Given the description of an element on the screen output the (x, y) to click on. 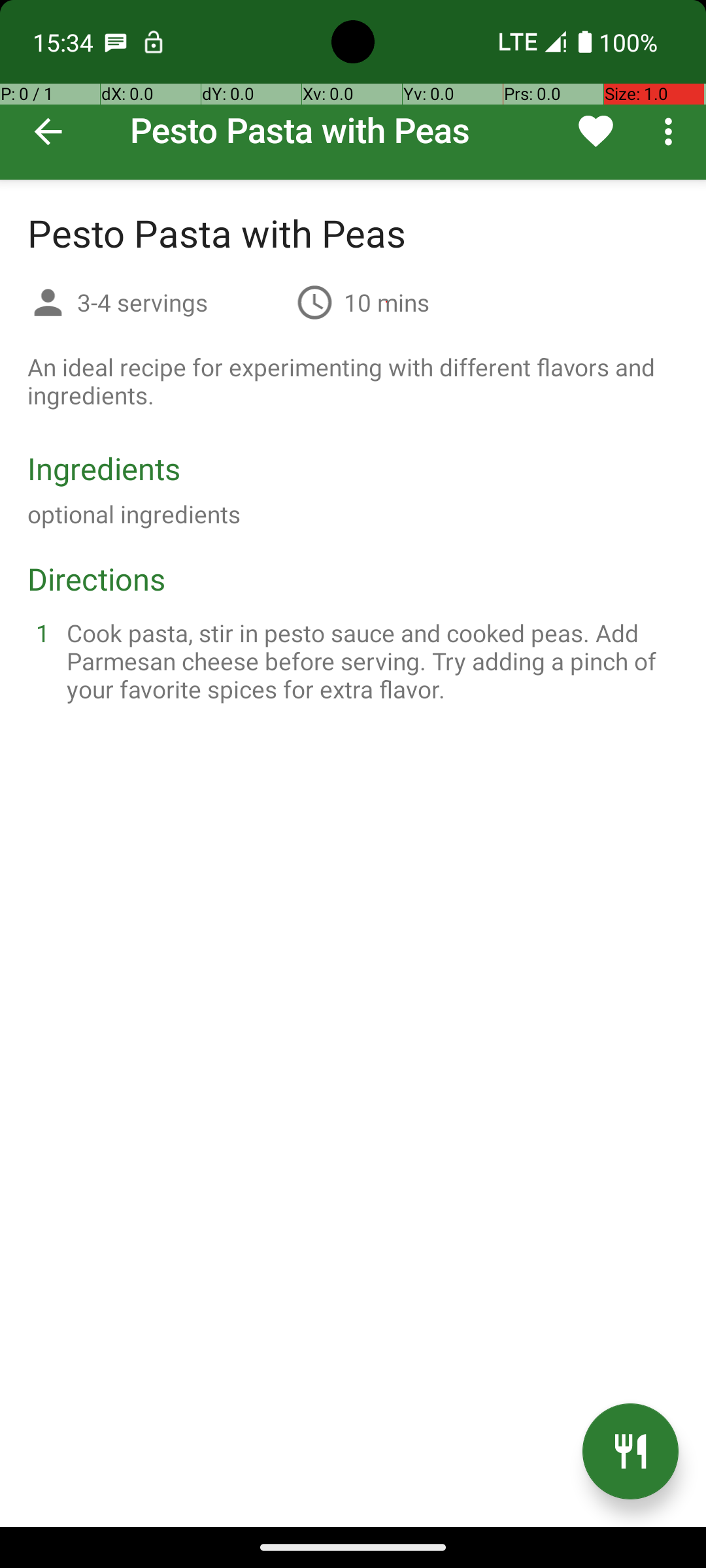
Pesto Pasta with Peas Element type: android.widget.FrameLayout (353, 89)
Cook pasta, stir in pesto sauce and cooked peas. Add Parmesan cheese before serving. Try adding a pinch of your favorite spices for extra flavor. Element type: android.widget.TextView (368, 660)
